Given the description of an element on the screen output the (x, y) to click on. 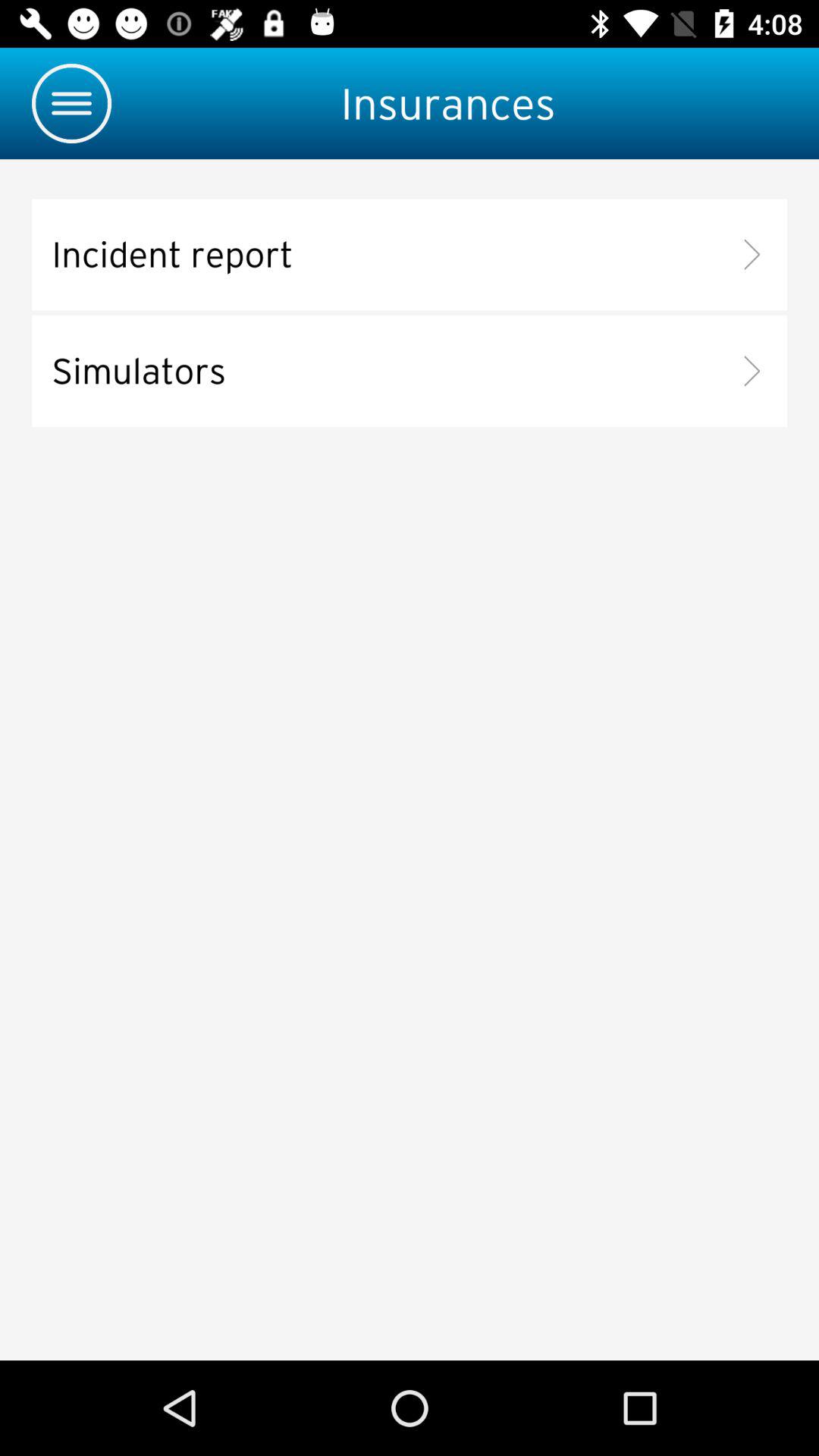
open simulators tab (409, 371)
